Given the description of an element on the screen output the (x, y) to click on. 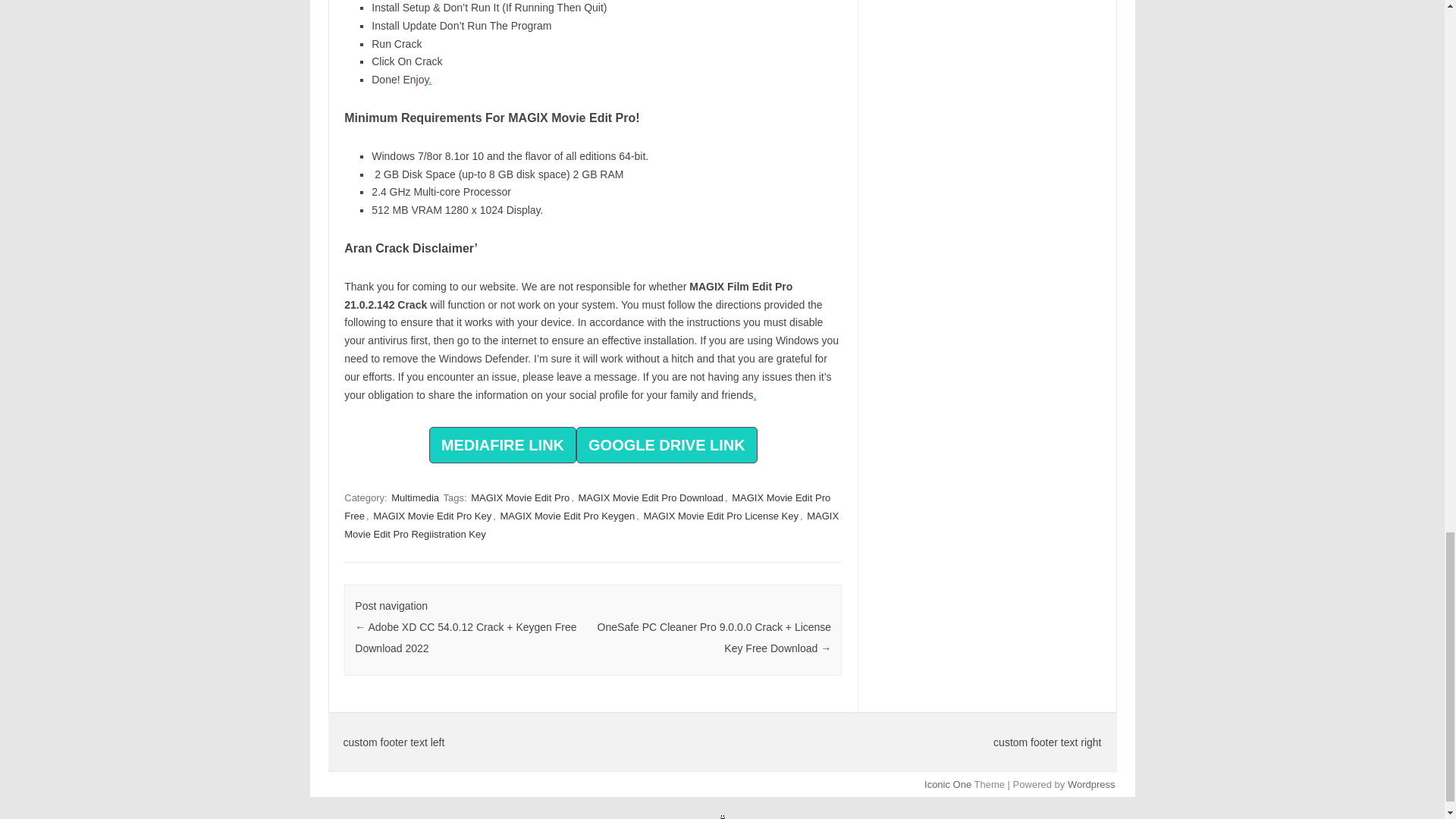
MAGIX Movie Edit Pro License Key (720, 515)
Iconic One (947, 784)
MEDIAFIRE LINK (502, 446)
GOOGLE DRIVE LINK (666, 444)
MAGIX Movie Edit Pro Regiistration Key (590, 524)
MAGIX Movie Edit Pro Keygen (568, 515)
Multimedia (415, 497)
MAGIX Movie Edit Pro Key (432, 515)
MAGIX Movie Edit Pro Download (649, 497)
MAGIX Movie Edit Pro (519, 497)
. (429, 79)
GOOGLE DRIVE LINK (666, 446)
. (755, 395)
MEDIAFIRE LINK (502, 444)
MAGIX Movie Edit Pro Free (586, 506)
